Given the description of an element on the screen output the (x, y) to click on. 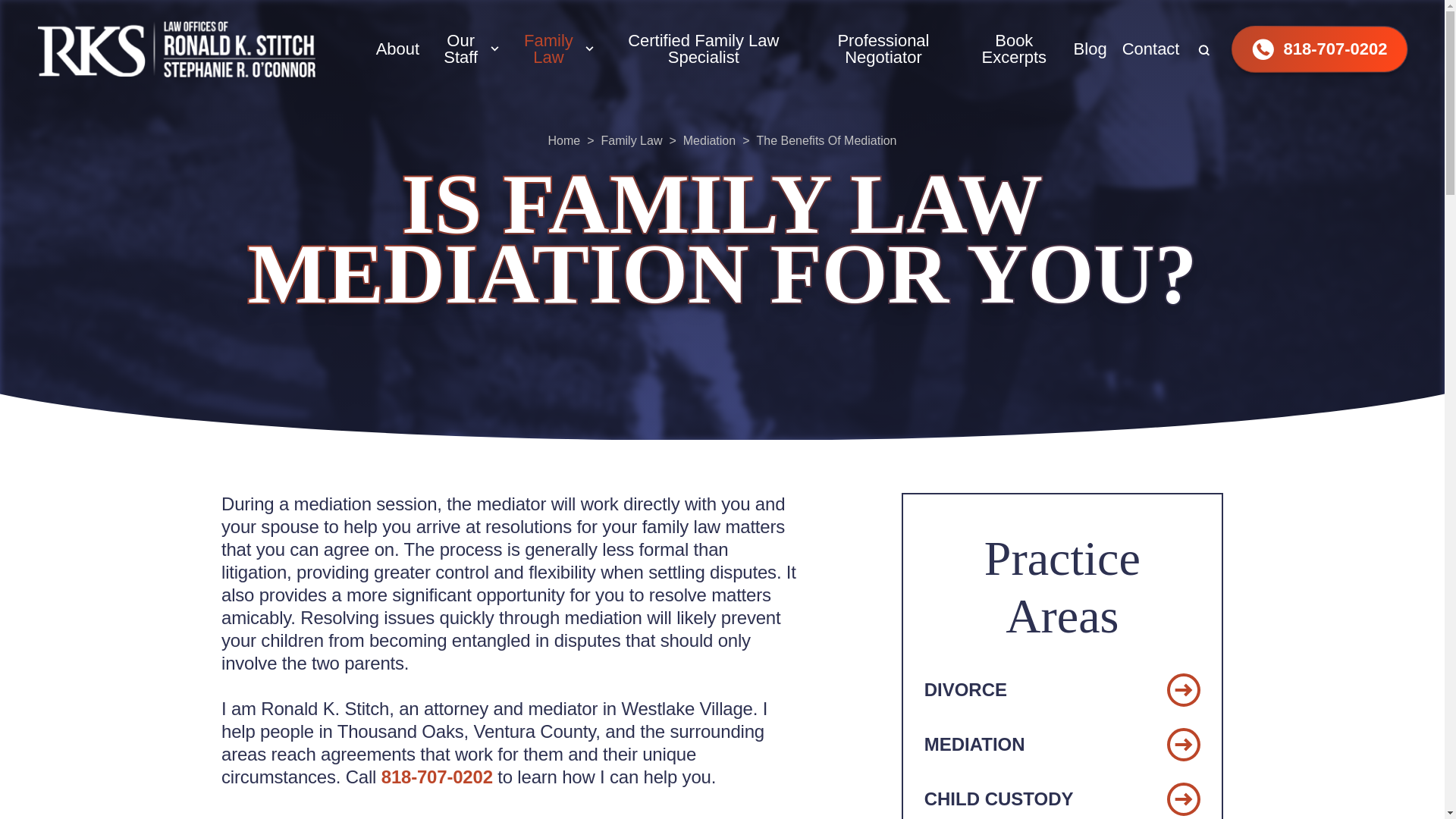
About (397, 48)
818-707-0202 (1318, 49)
Blog (1090, 48)
Family Law (548, 48)
Family Law (548, 48)
Our Staff (460, 48)
Our Staff (460, 48)
Book Excerpts (1013, 48)
Contact (1150, 48)
Professional Negotiator (882, 48)
